Given the description of an element on the screen output the (x, y) to click on. 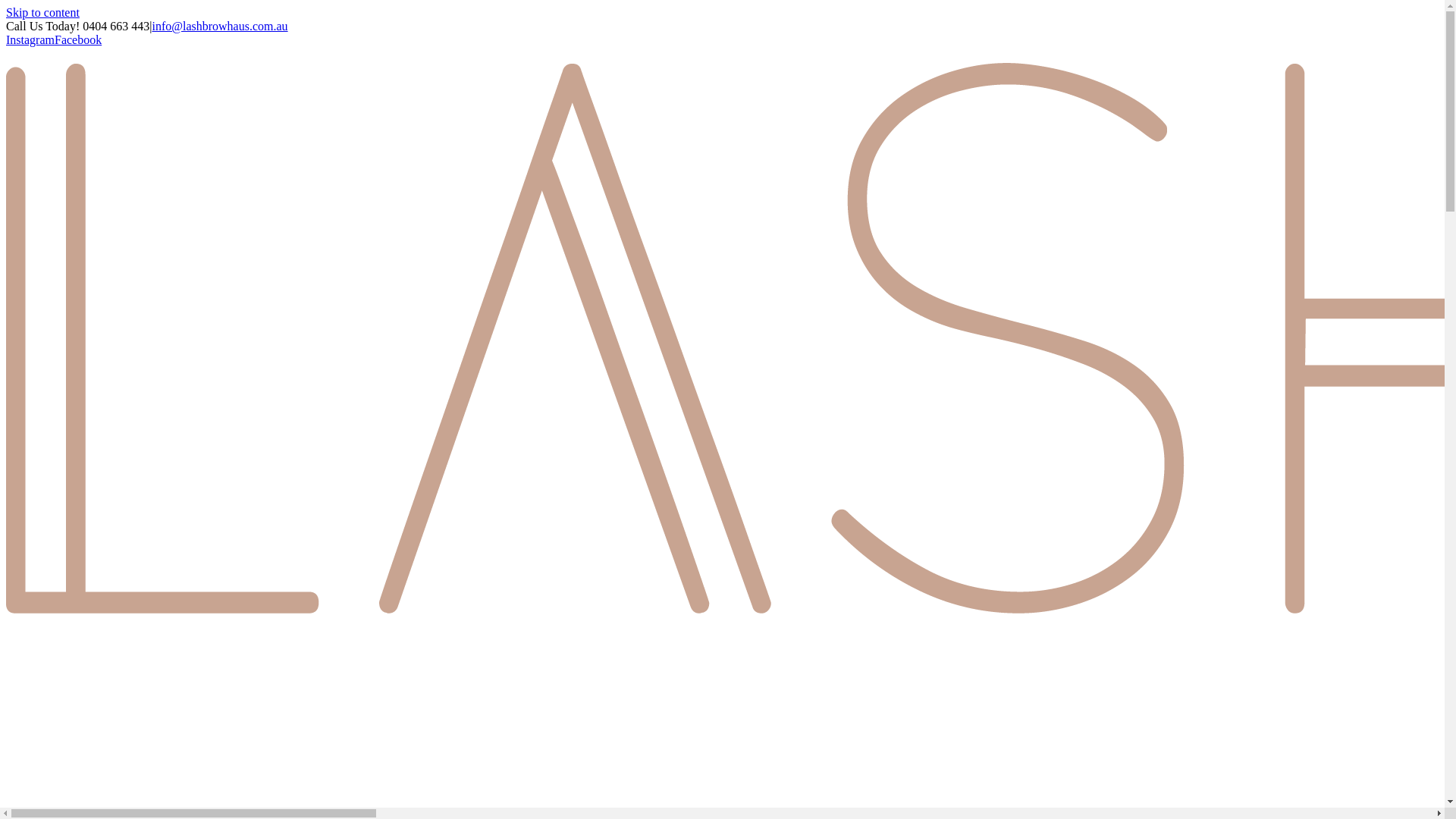
Facebook Element type: text (77, 39)
Skip to content Element type: text (42, 12)
info@lashbrowhaus.com.au Element type: text (219, 25)
Instagram Element type: text (30, 39)
